Given the description of an element on the screen output the (x, y) to click on. 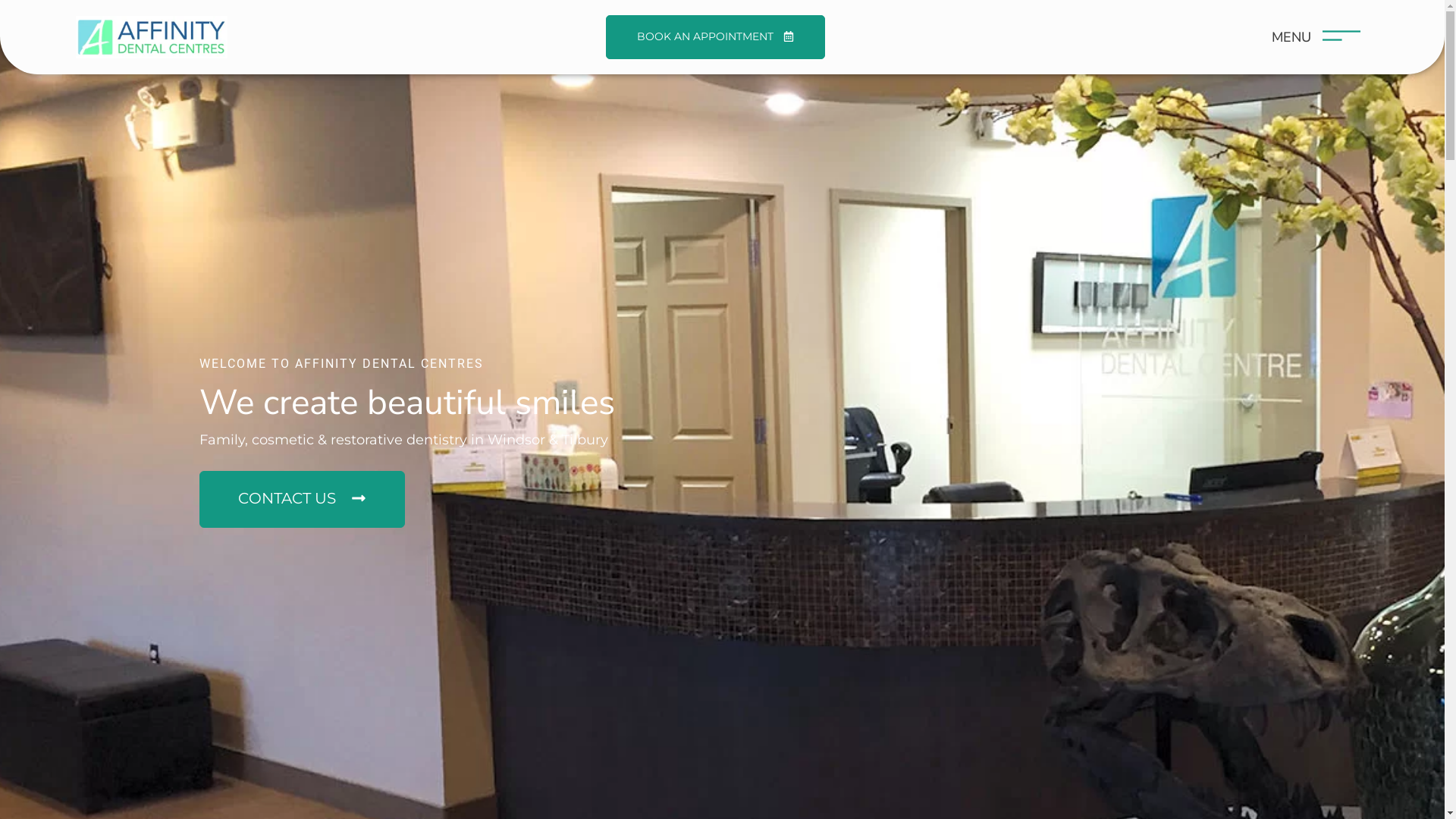
MENU Element type: text (1291, 37)
CONTACT US Element type: text (301, 498)
BOOK AN APPOINTMENT Element type: text (715, 37)
